Given the description of an element on the screen output the (x, y) to click on. 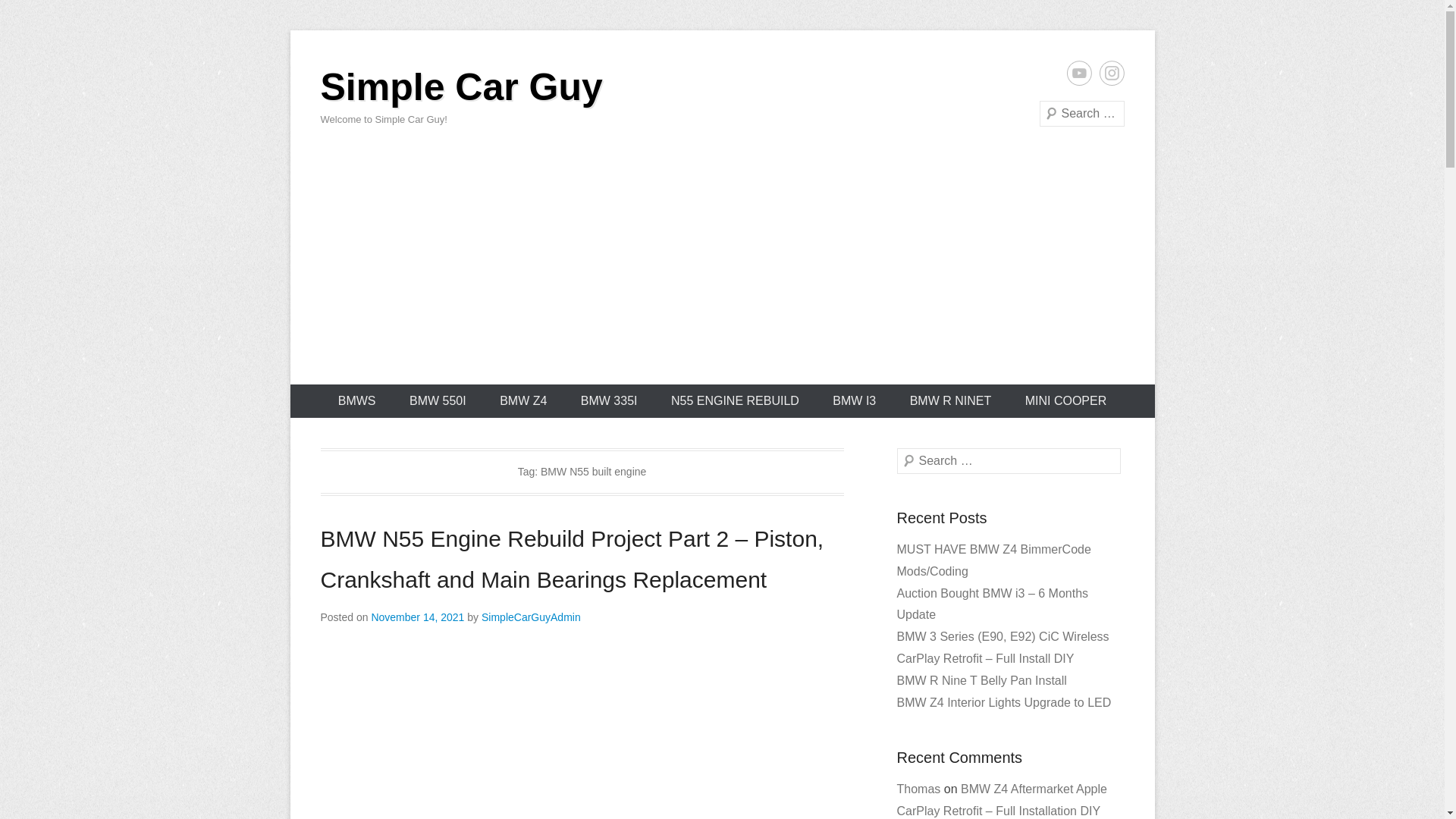
BMW 335I (609, 400)
BMW I3 (853, 400)
BMWS (357, 400)
November 14, 2021 (417, 616)
BMW 550I (437, 400)
YouTube (1077, 72)
Instagram (1111, 72)
3:24 pm (417, 616)
MINI COOPER (1066, 400)
N55 ENGINE REBUILD (734, 400)
Instagram (1111, 72)
BMW R NINET (951, 400)
